Given the description of an element on the screen output the (x, y) to click on. 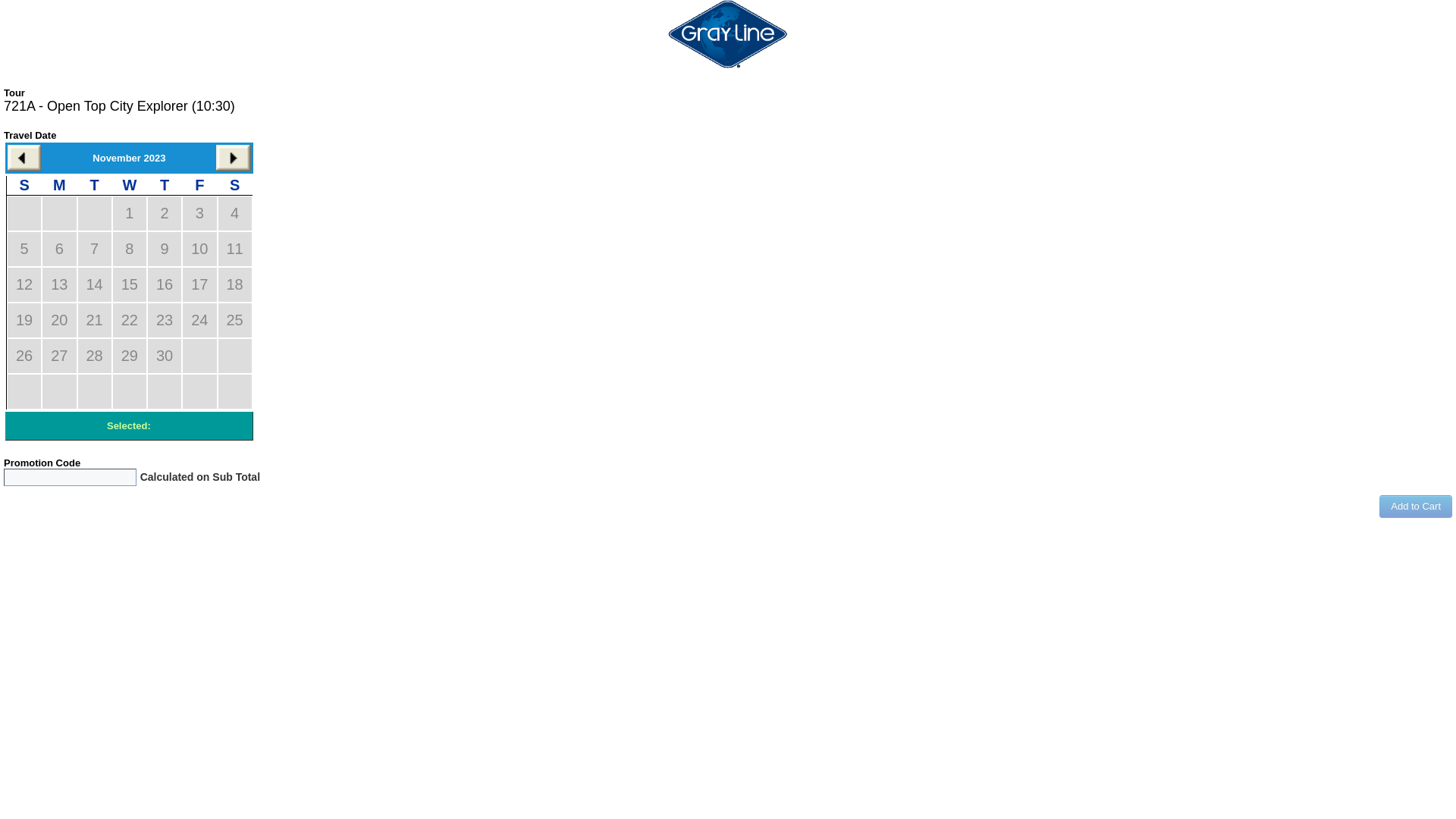
Add to Cart Element type: text (1415, 506)
